Given the description of an element on the screen output the (x, y) to click on. 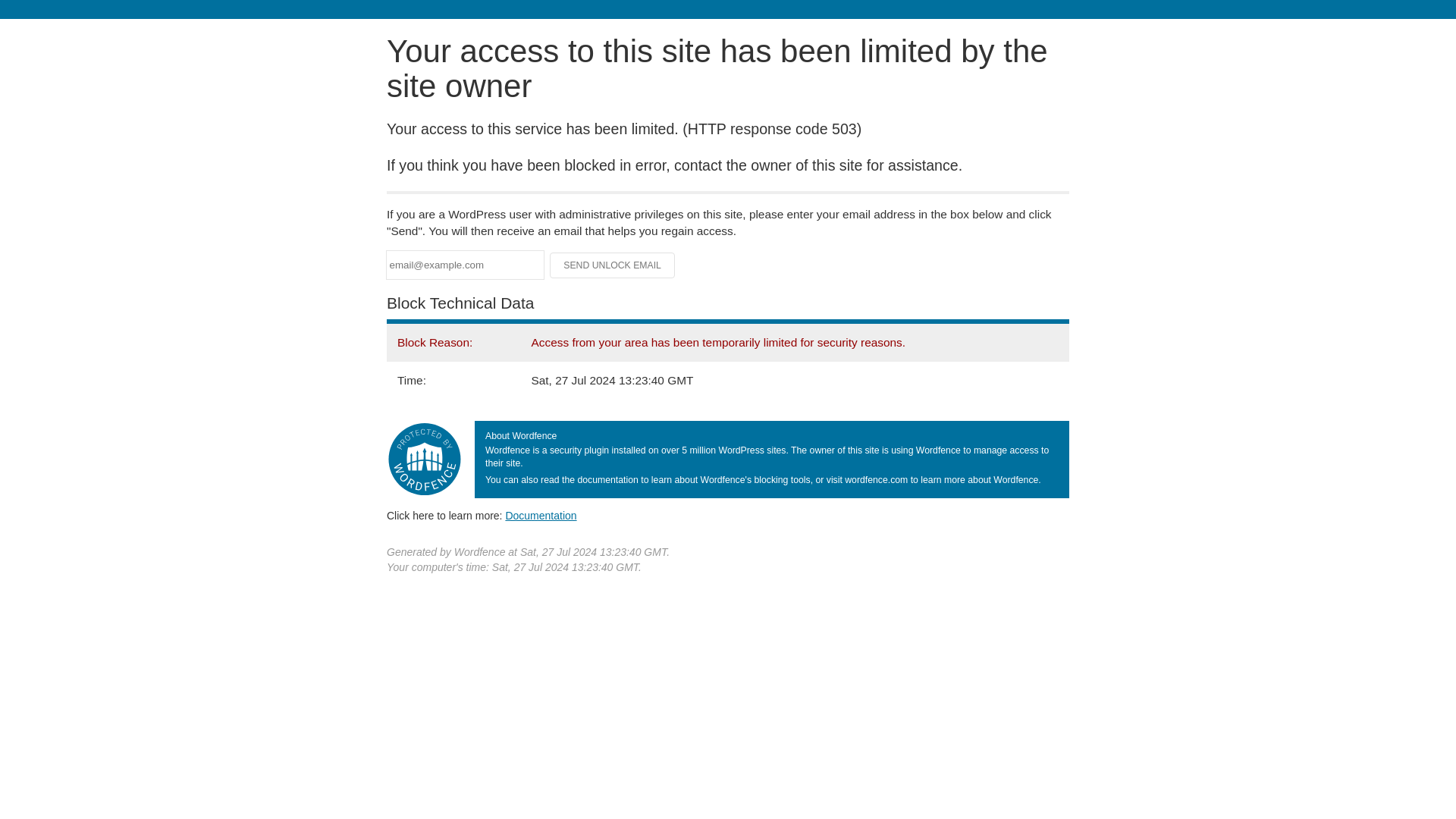
Documentation (540, 515)
Send Unlock Email (612, 265)
Send Unlock Email (612, 265)
